Given the description of an element on the screen output the (x, y) to click on. 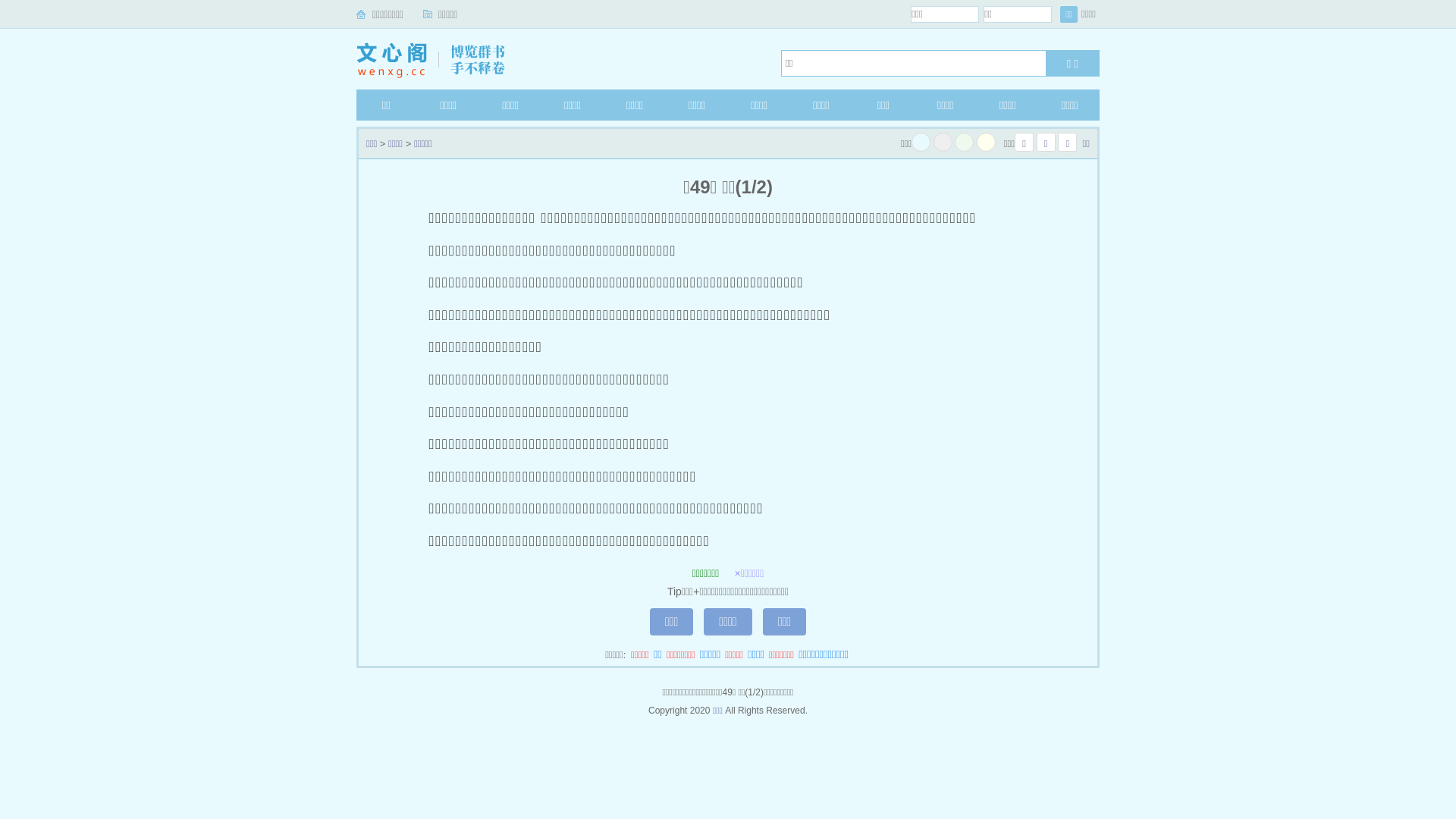
   Element type: text (942, 141)
   Element type: text (963, 141)
   Element type: text (985, 141)
   Element type: text (920, 141)
